Given the description of an element on the screen output the (x, y) to click on. 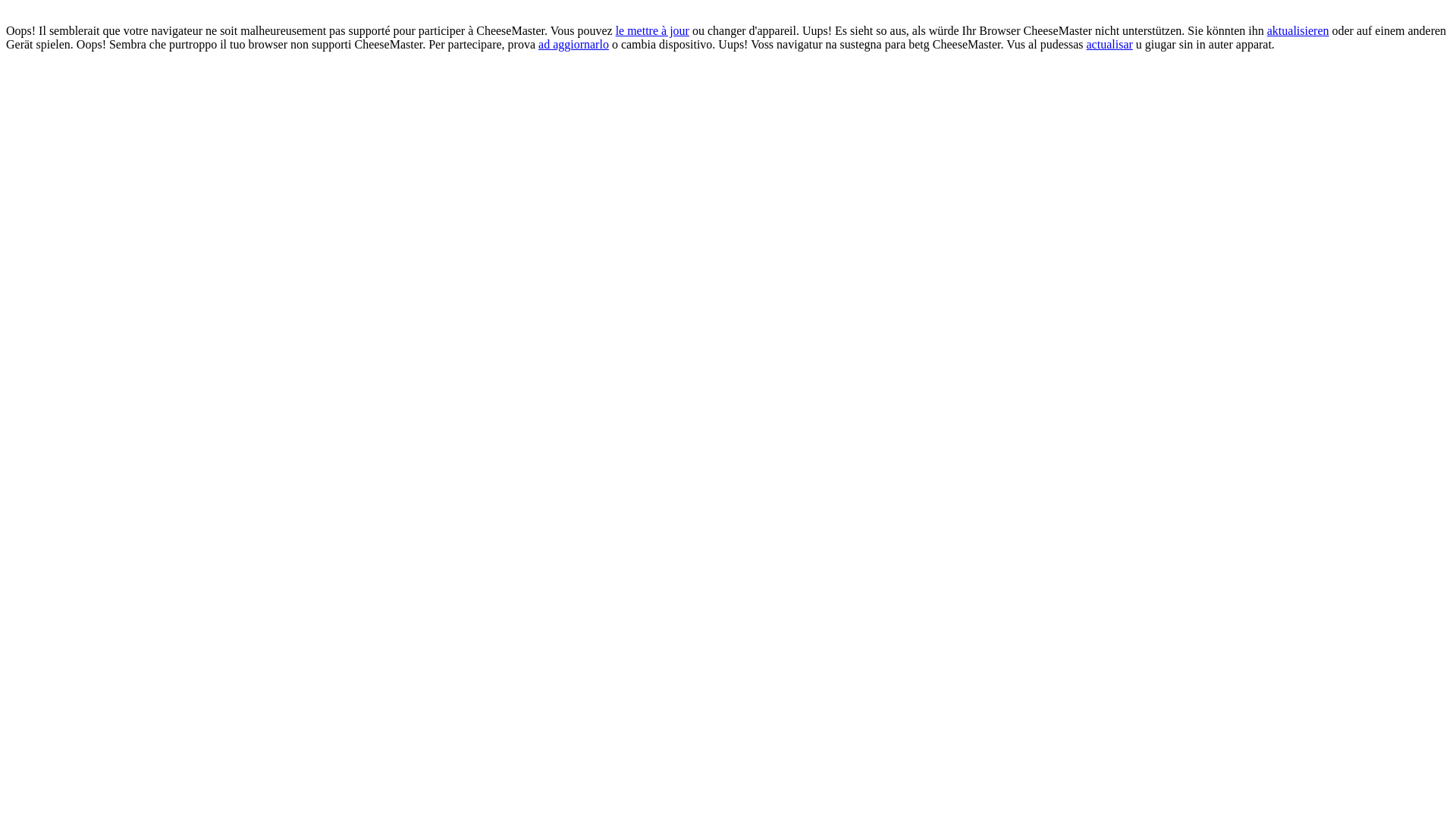
ad aggiornarlo Element type: text (573, 43)
aktualisieren Element type: text (1298, 30)
actualisar Element type: text (1109, 43)
